Given the description of an element on the screen output the (x, y) to click on. 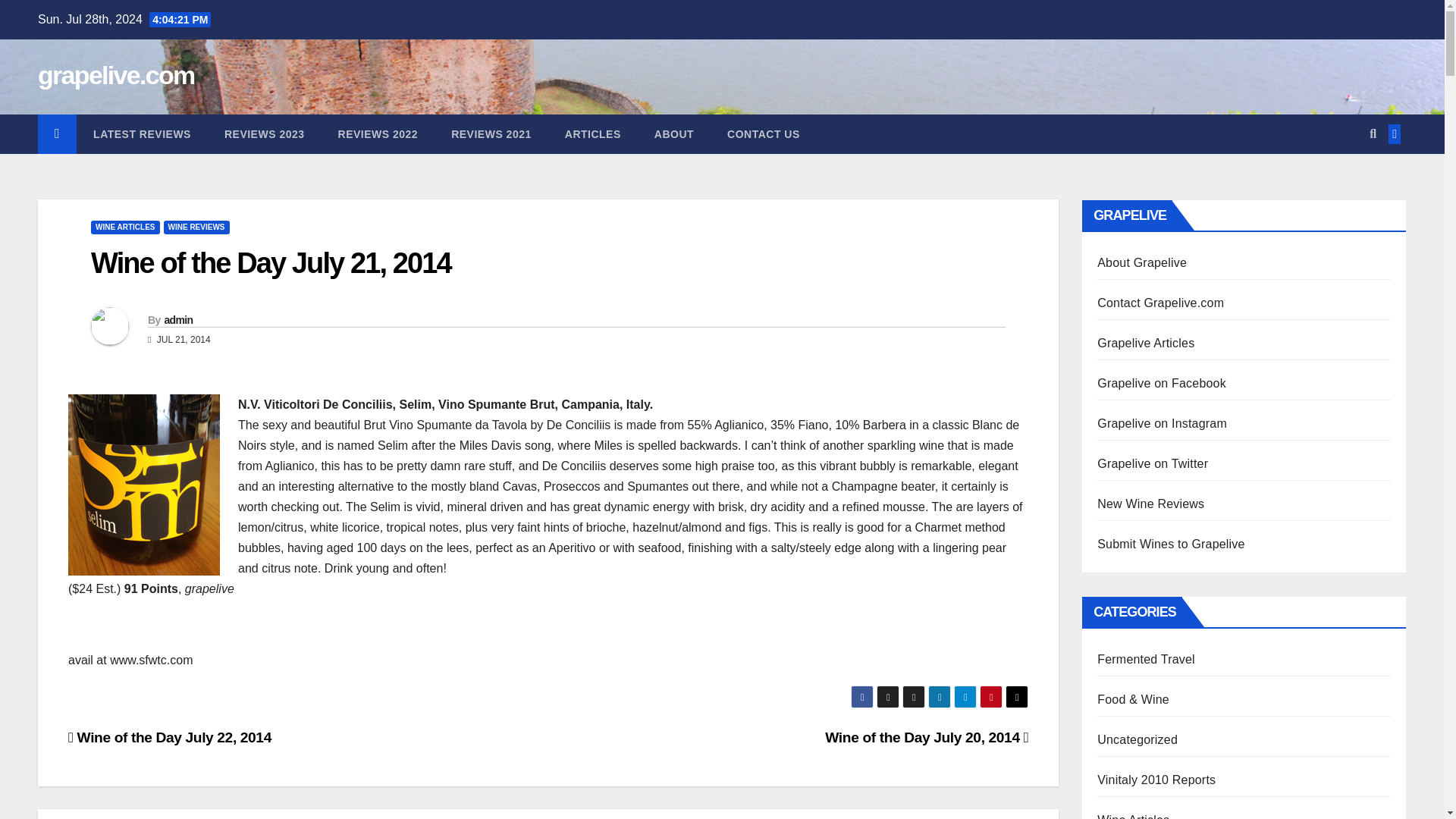
Wine of the Day July 21, 2014 (270, 263)
REVIEWS 2023 (264, 133)
Reviews 2022 (378, 133)
admin (177, 319)
Latest Reviews (142, 133)
Wine of the Day July 22, 2014 (169, 737)
Like Grapelive on Facebook (1161, 382)
Contact Us (763, 133)
WINE REVIEWS (196, 227)
ABOUT (673, 133)
Articles (592, 133)
About (673, 133)
Permalink to: Wine of the Day July 21, 2014 (270, 263)
Follow Grapelive on Twitter (1152, 463)
Wine of the Day July 20, 2014 (926, 737)
